Given the description of an element on the screen output the (x, y) to click on. 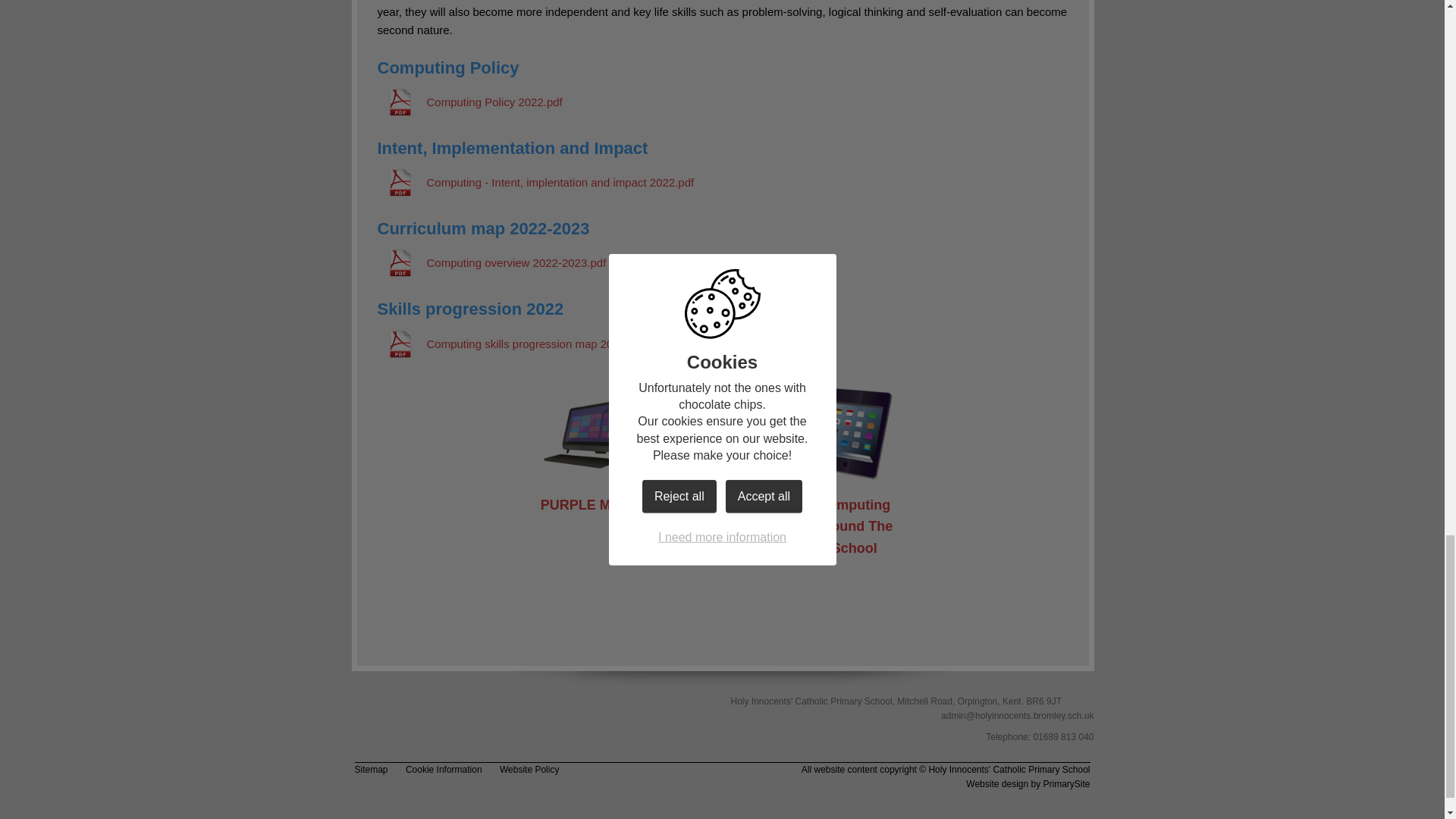
Computing - Intent, implentation and impact 2022.pdf (535, 182)
Computing Policy 2022.pdf (469, 102)
Computing overview 2022-2023.pdf (492, 262)
Computing skills progression map 2022.pdf (511, 343)
